Given the description of an element on the screen output the (x, y) to click on. 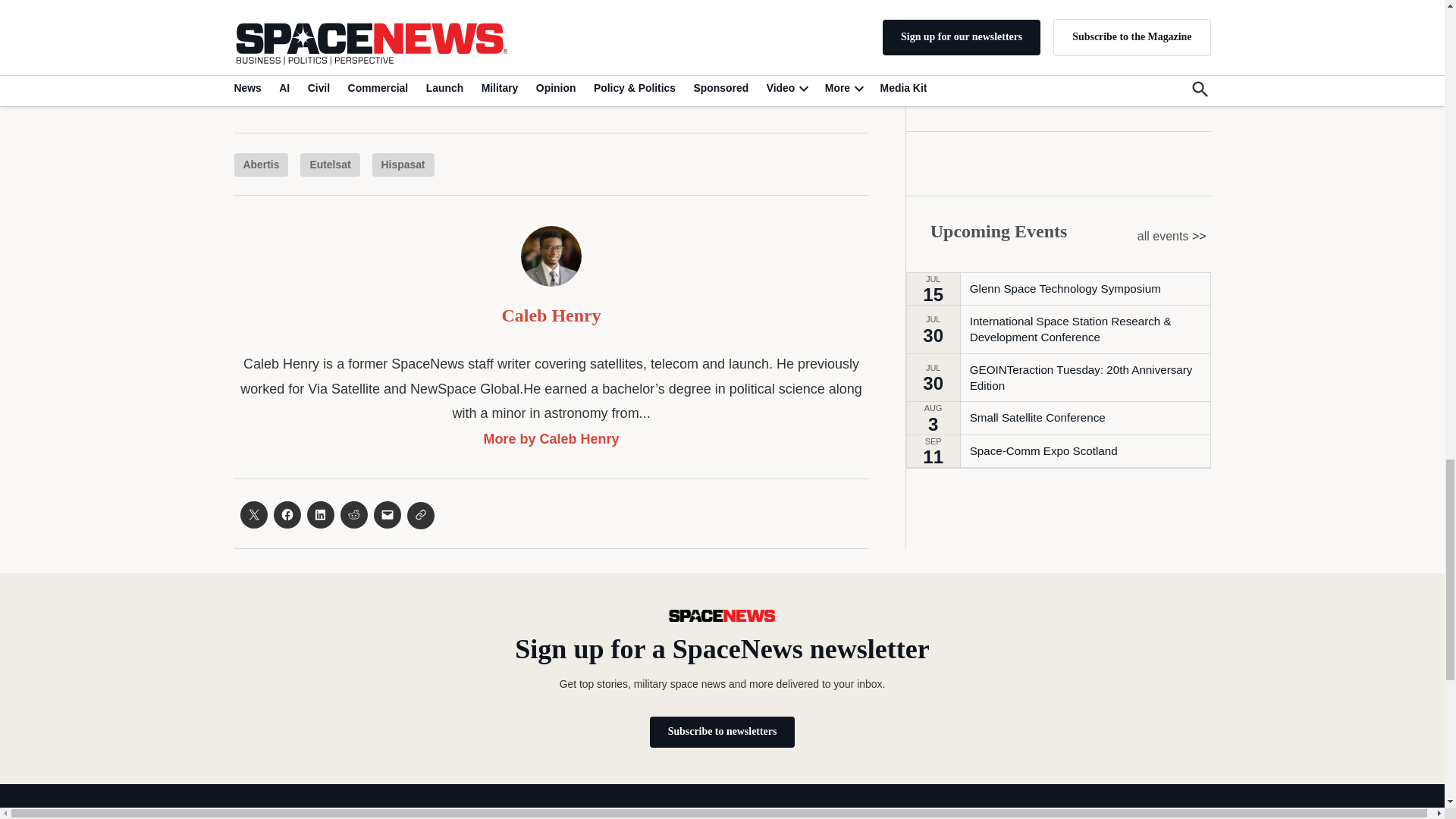
Click to share on Clipboard (419, 515)
Click to share on Reddit (352, 514)
Click to share on Facebook (286, 514)
Click to share on X (253, 514)
Click to share on LinkedIn (319, 514)
Click to email a link to a friend (386, 514)
